Given the description of an element on the screen output the (x, y) to click on. 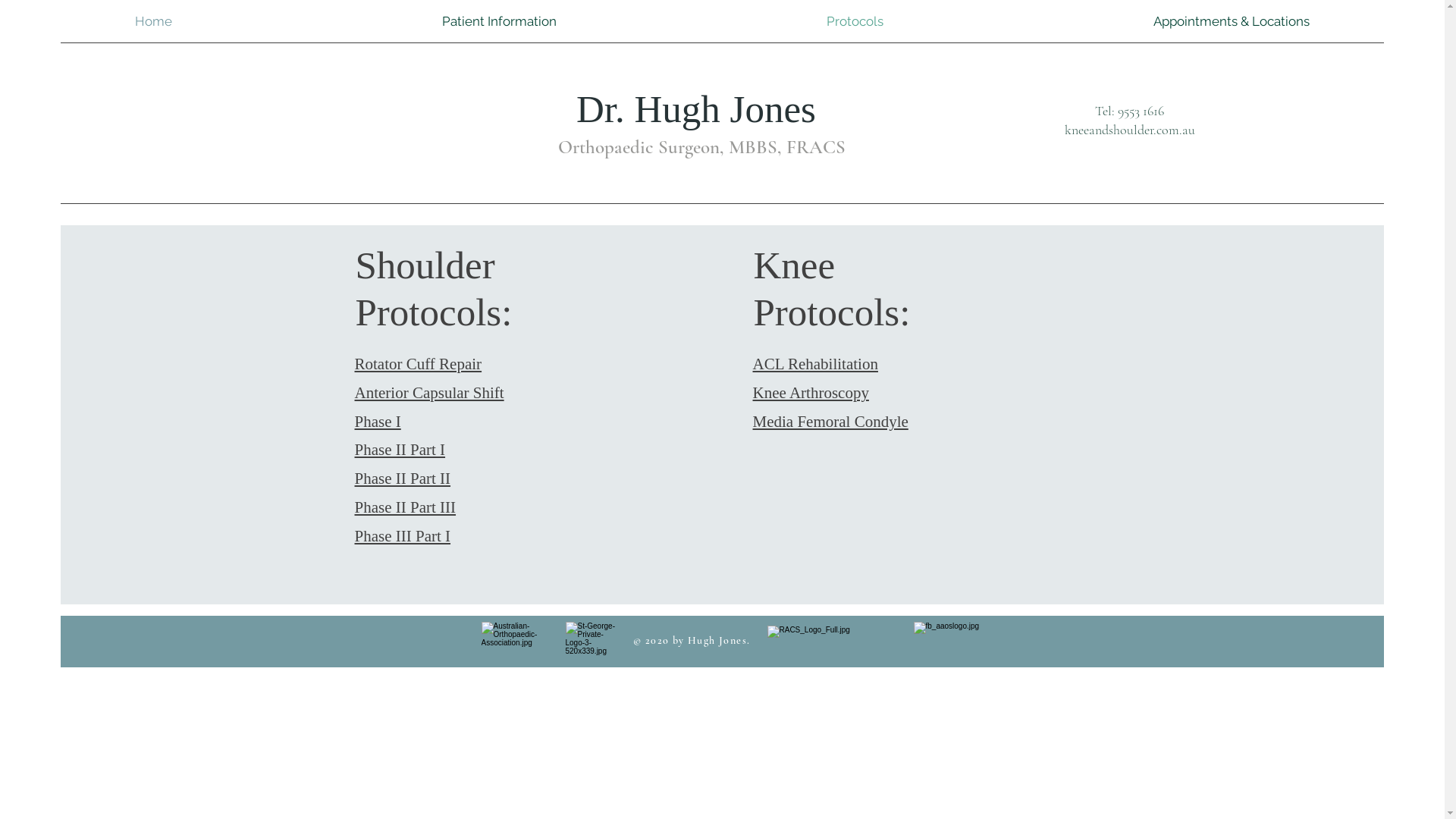
Phase I Element type: text (377, 421)
Dr. Hugh Jones  Element type: text (700, 108)
Phase II Part II Element type: text (402, 478)
Shoulder Protocols: Element type: text (432, 288)
Patient Information Element type: text (499, 21)
Phase II Part III Element type: text (405, 507)
Knee  Element type: text (798, 265)
ACL Rehabilitation Element type: text (814, 363)
Appointments & Locations Element type: text (1231, 21)
Media Femoral Condyle Element type: text (829, 421)
Knee Arthroscopy Element type: text (810, 392)
 Orthopaedic Surgeon, MBBS, FRACS Element type: text (699, 146)
Phase II Part I Element type: text (399, 449)
Protocols: Element type: text (831, 312)
Protocols Element type: text (854, 21)
Anterior Capsular Shift Element type: text (429, 392)
Rotator Cuff Repair Element type: text (418, 363)
Phase III Part I Element type: text (402, 536)
Home Element type: text (153, 21)
